Given the description of an element on the screen output the (x, y) to click on. 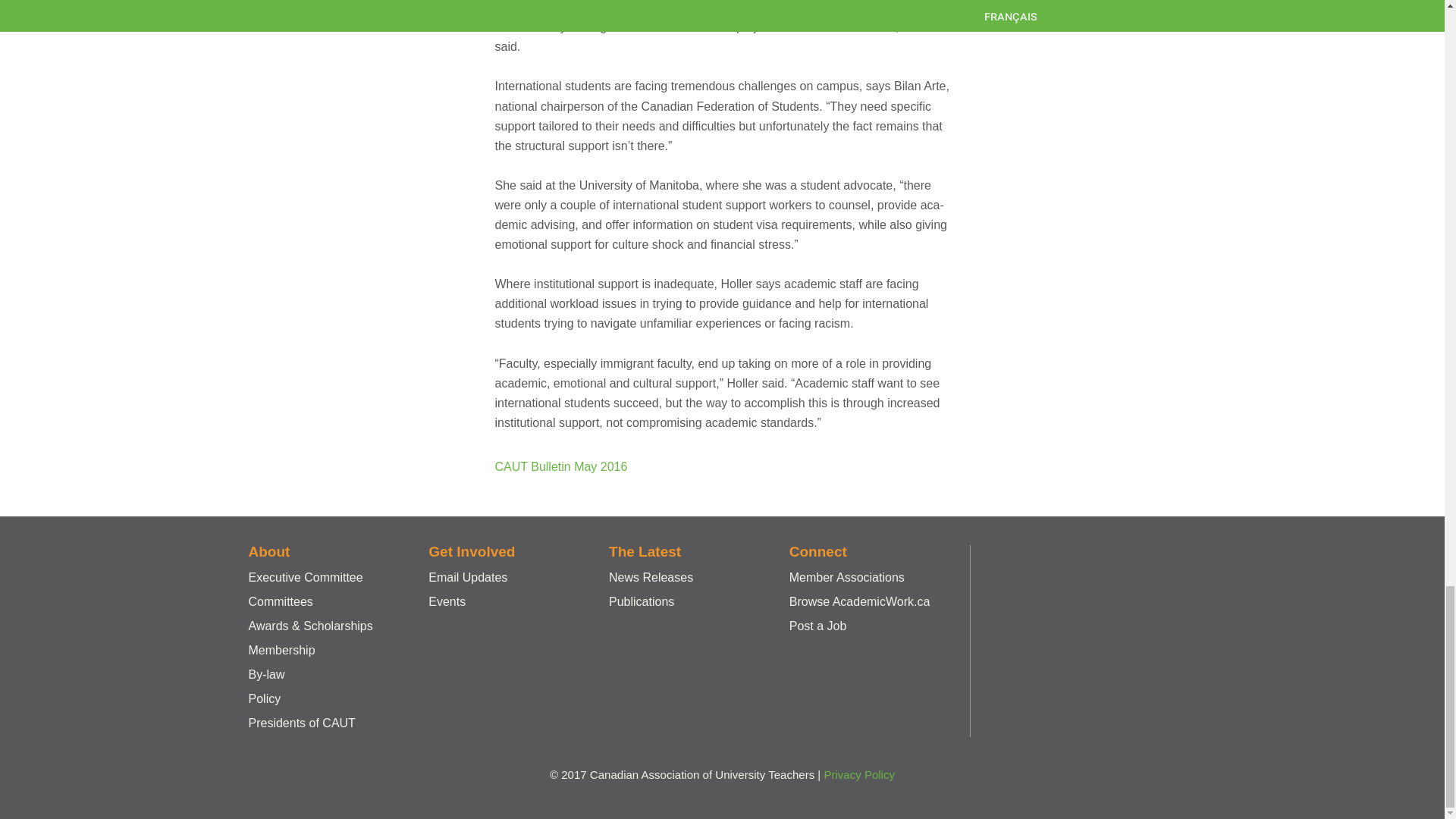
Committees (280, 601)
CAUT Bulletin May 2016 (561, 466)
By-law (266, 674)
Privacy Policy (859, 774)
The Latest (644, 551)
News Releases (650, 576)
Post a Job (818, 625)
Get Involved (471, 551)
Executive Committee (305, 576)
Member Associations (846, 576)
